Given the description of an element on the screen output the (x, y) to click on. 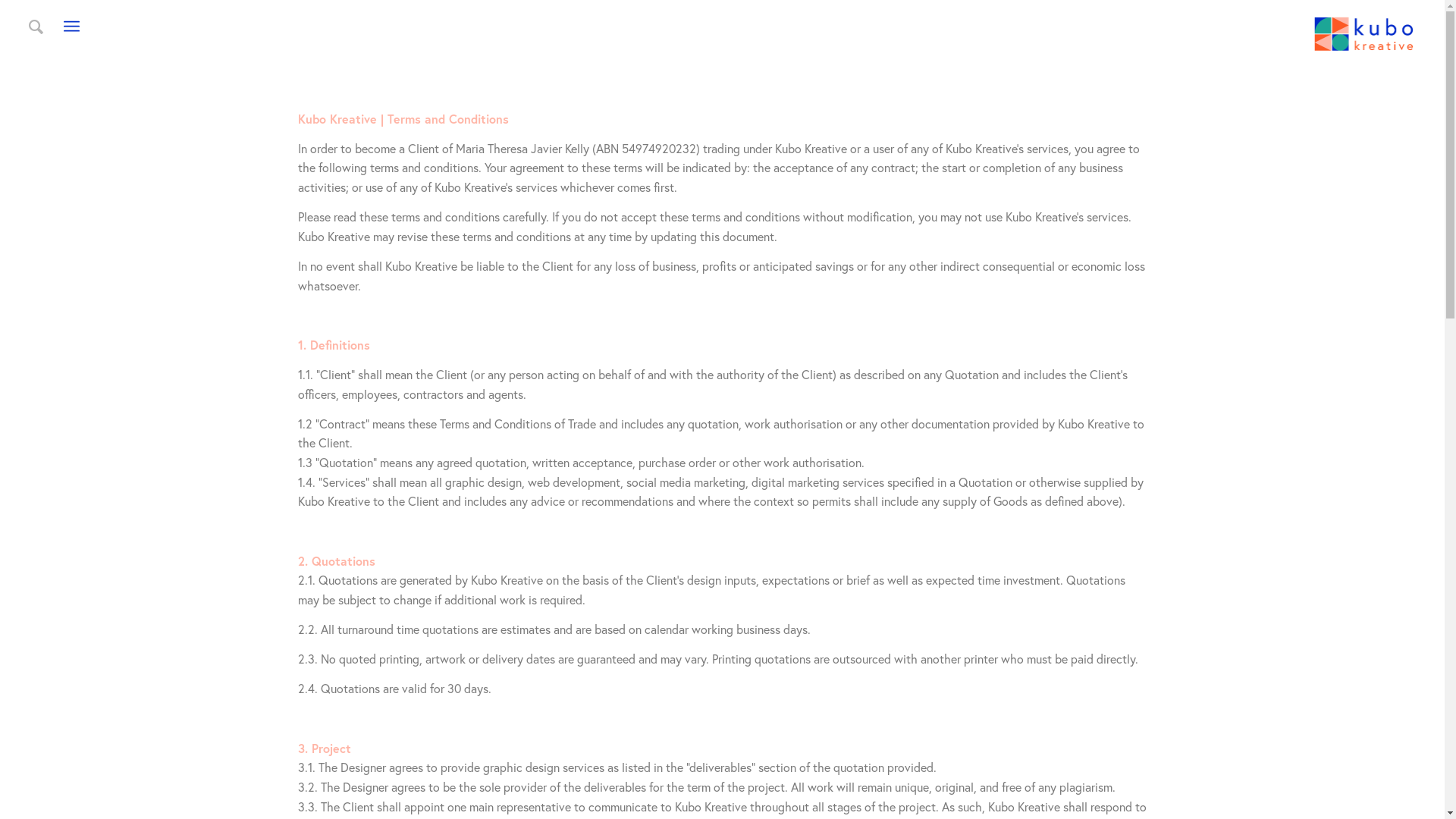
kubo kreative logo 2022_VBlue-02 Element type: hover (1363, 34)
